Given the description of an element on the screen output the (x, y) to click on. 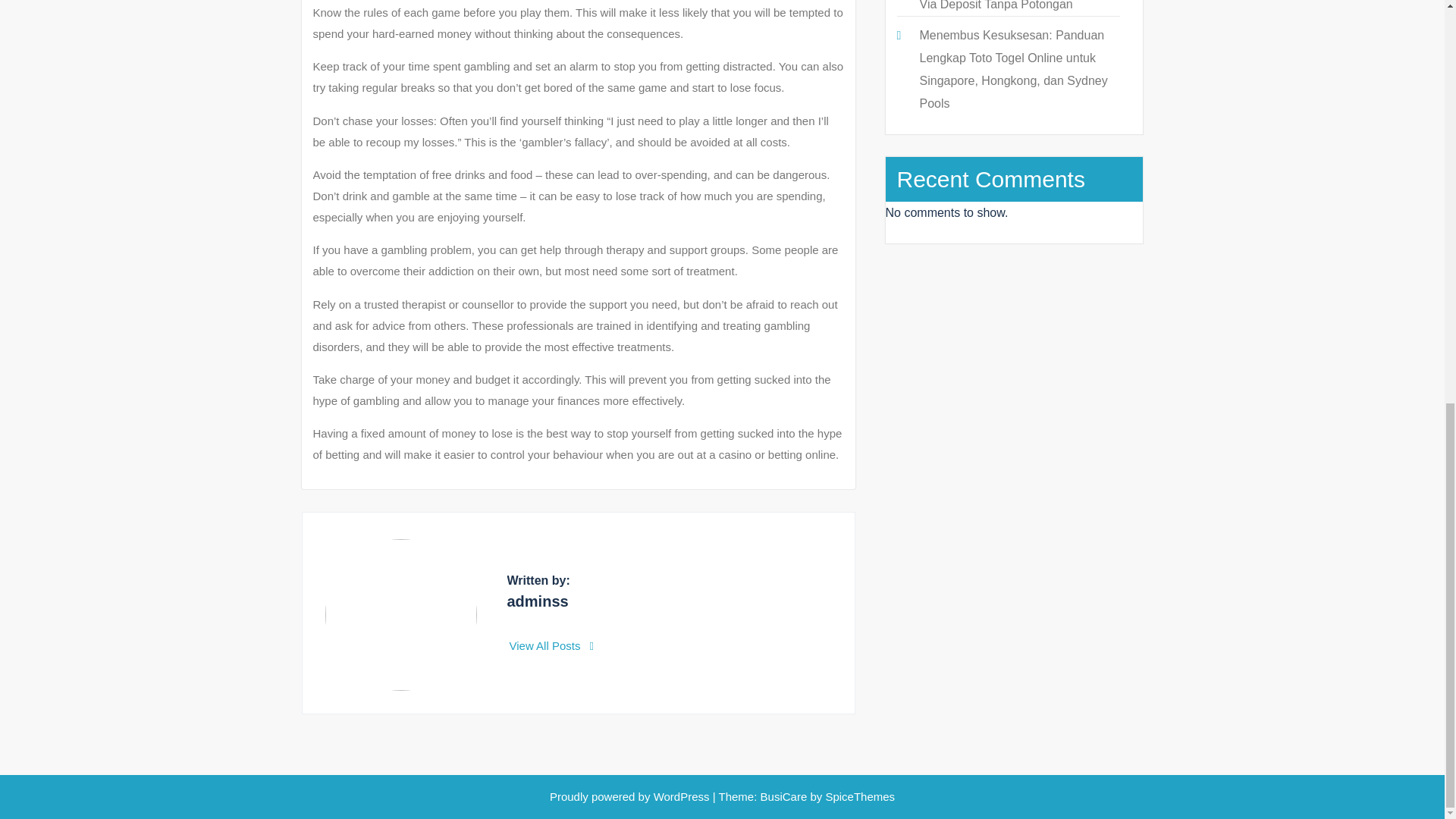
View All Posts (551, 645)
BusiCare (785, 796)
SpiceThemes (858, 796)
WordPress (681, 796)
